Given the description of an element on the screen output the (x, y) to click on. 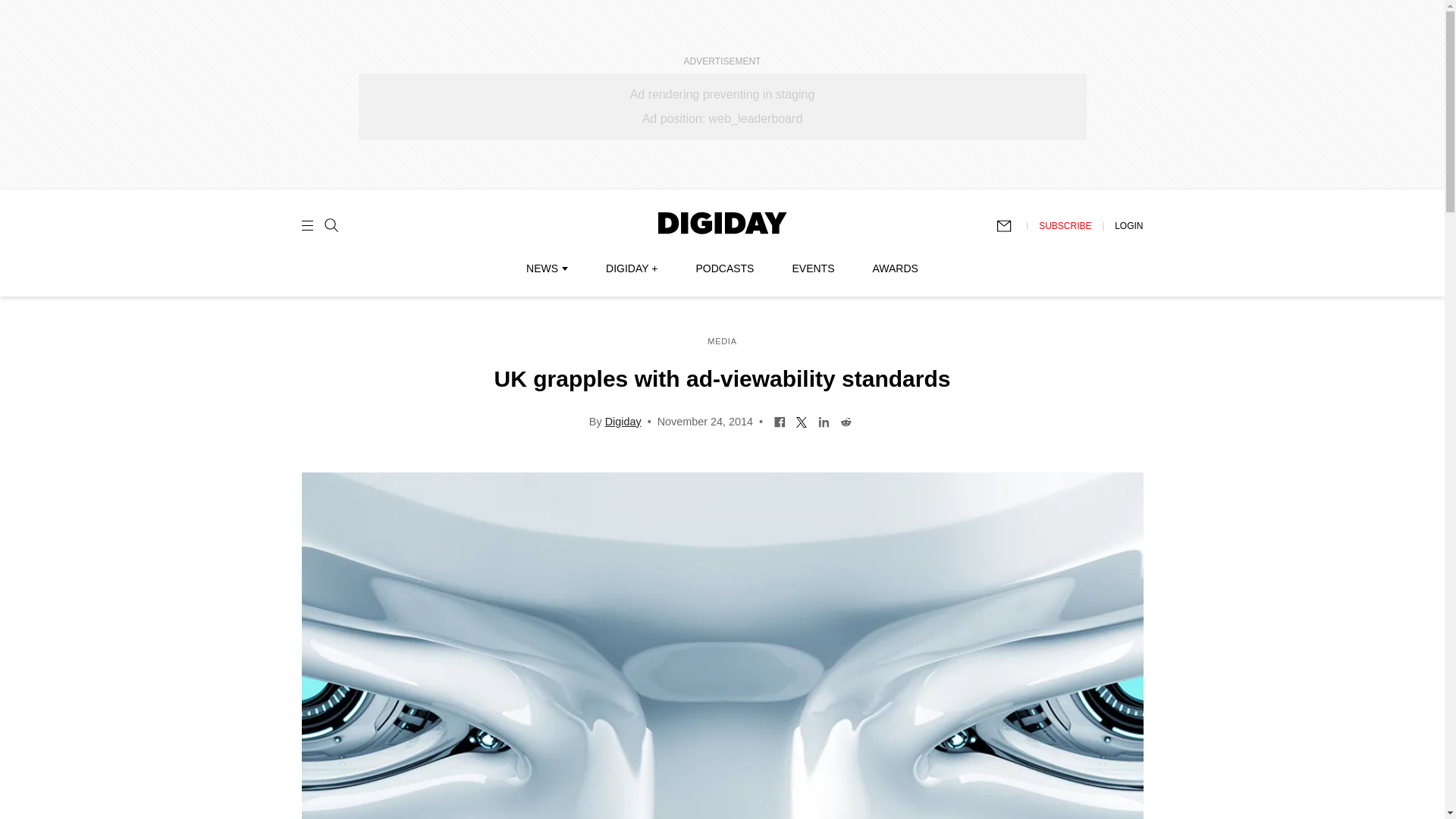
NEWS (546, 267)
SUBSCRIBE (1064, 225)
Share on Facebook (779, 420)
PODCASTS (725, 267)
Share on LinkedIn (822, 420)
Share on Twitter (801, 420)
EVENTS (813, 267)
Subscribe (1010, 225)
Share on Reddit (845, 420)
AWARDS (894, 267)
LOGIN (1128, 225)
